Given the description of an element on the screen output the (x, y) to click on. 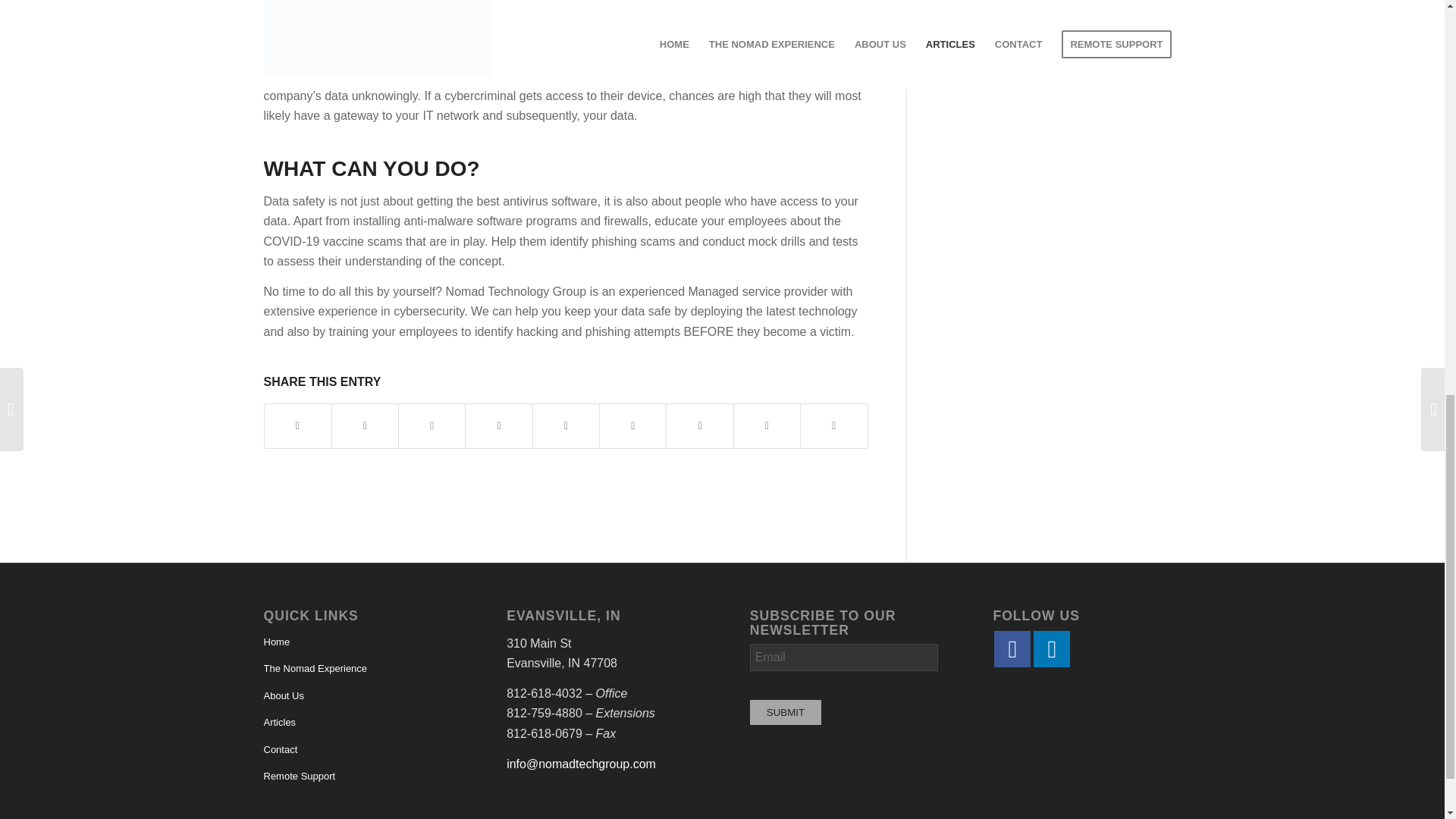
Articles (357, 723)
Remote Support (357, 776)
Submit (785, 712)
The Nomad Experience (357, 669)
About Us (357, 696)
Submit (785, 712)
Contact (357, 750)
Home (357, 642)
